Given the description of an element on the screen output the (x, y) to click on. 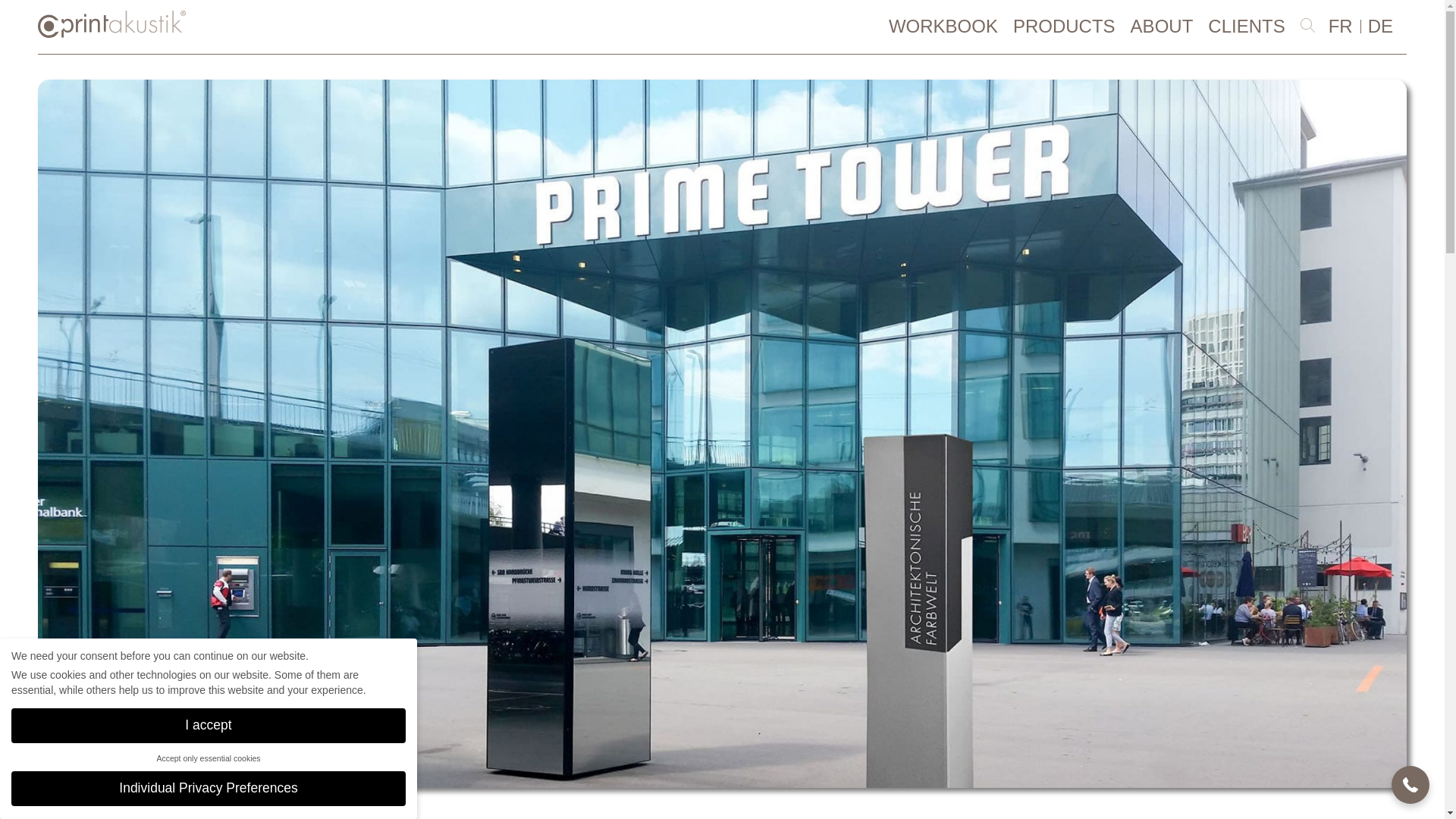
PRODUCTS (1064, 25)
WORKBOOK (942, 25)
ABOUT (1162, 25)
DE (1379, 26)
FR (1339, 26)
CLIENTS (1246, 25)
